Given the description of an element on the screen output the (x, y) to click on. 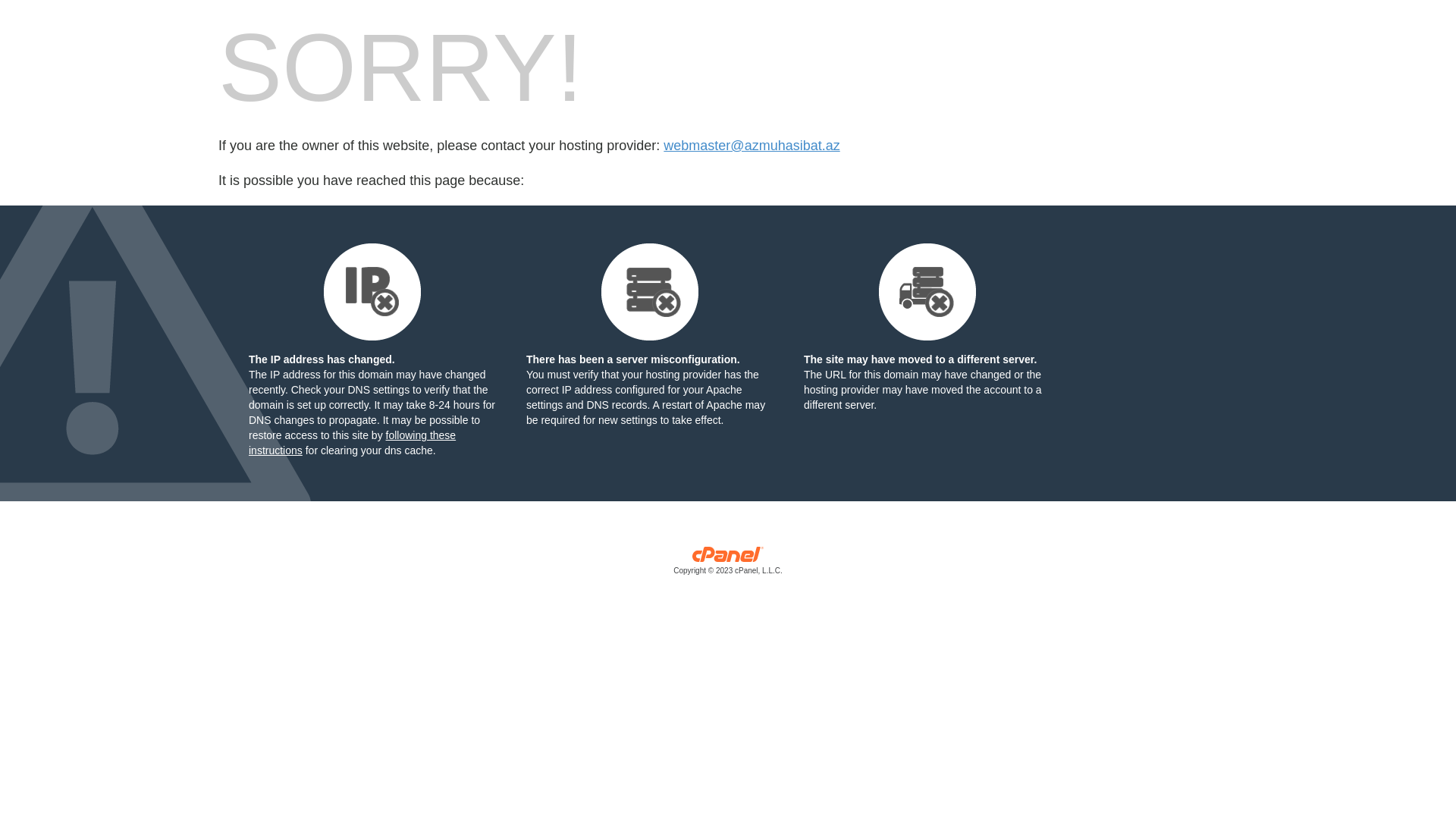
webmaster@azmuhasibat.az Element type: text (751, 145)
following these instructions Element type: text (351, 442)
